Given the description of an element on the screen output the (x, y) to click on. 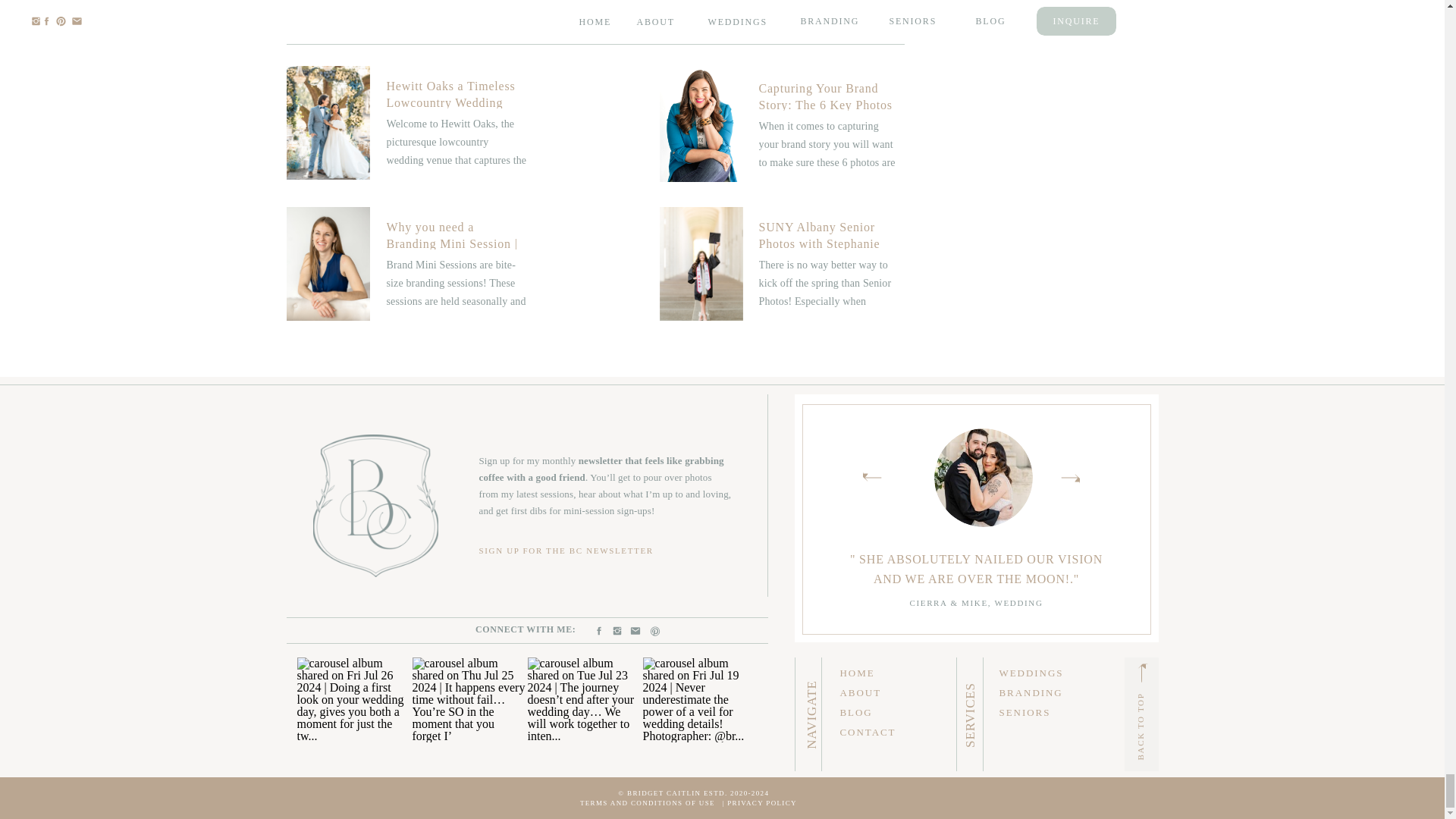
Created by potrace 1.15, written by Peter Selinger 2001-2017 (1141, 672)
SUNY Albany Senior Photos with Stephanie (782, 264)
